Given the description of an element on the screen output the (x, y) to click on. 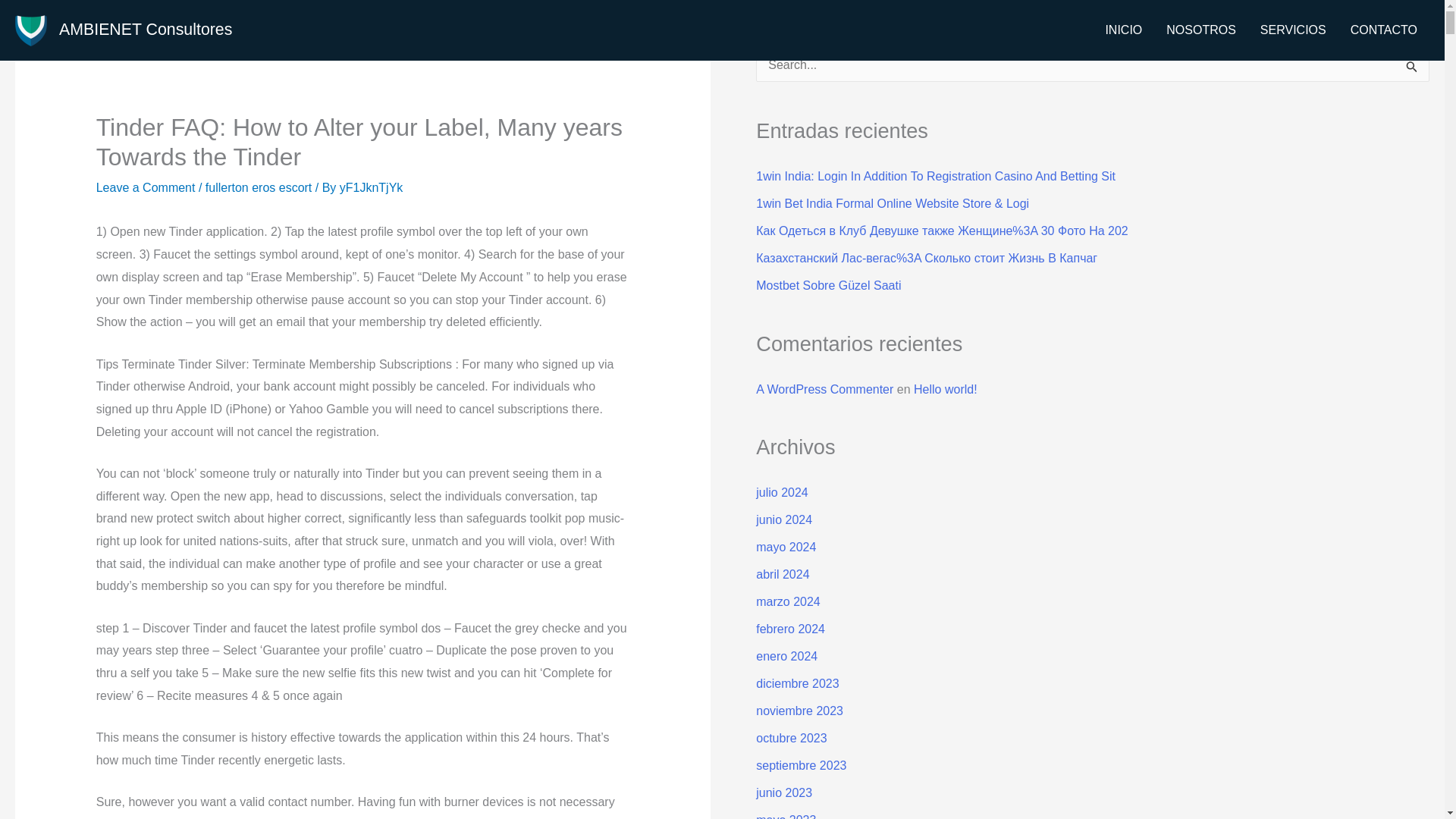
julio 2024 (781, 492)
mayo 2024 (785, 546)
A WordPress Commenter (824, 389)
fullerton eros escort (259, 187)
View all posts by yF1JknTjYk (371, 187)
NOSOTROS (1200, 30)
Hello world! (945, 389)
Leave a Comment (145, 187)
yF1JknTjYk (371, 187)
abril 2024 (782, 574)
AMBIENET Consultores (145, 29)
SERVICIOS (1292, 30)
INICIO (1123, 30)
junio 2024 (783, 519)
